Given the description of an element on the screen output the (x, y) to click on. 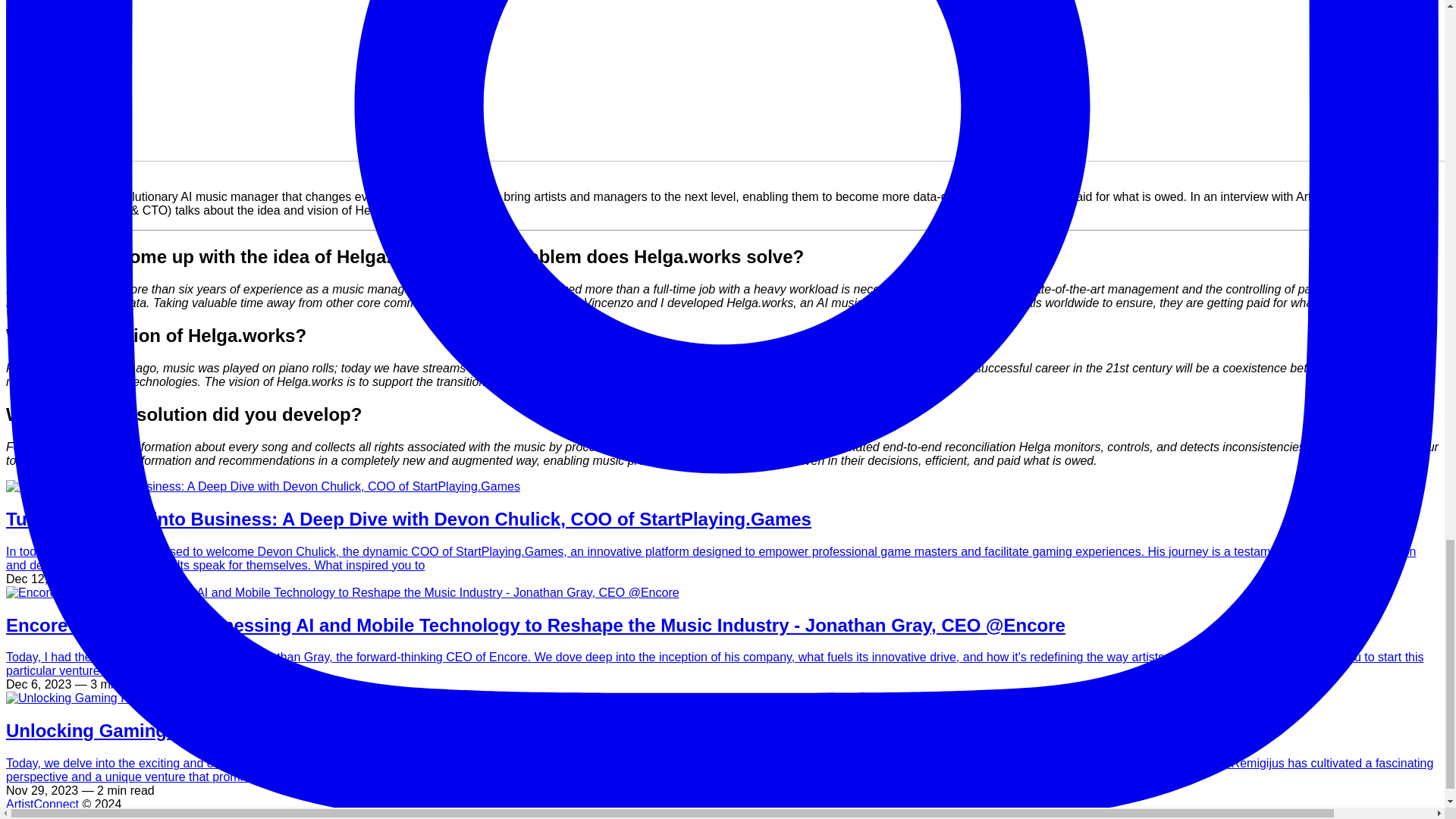
ArtistConnect (41, 803)
